Given the description of an element on the screen output the (x, y) to click on. 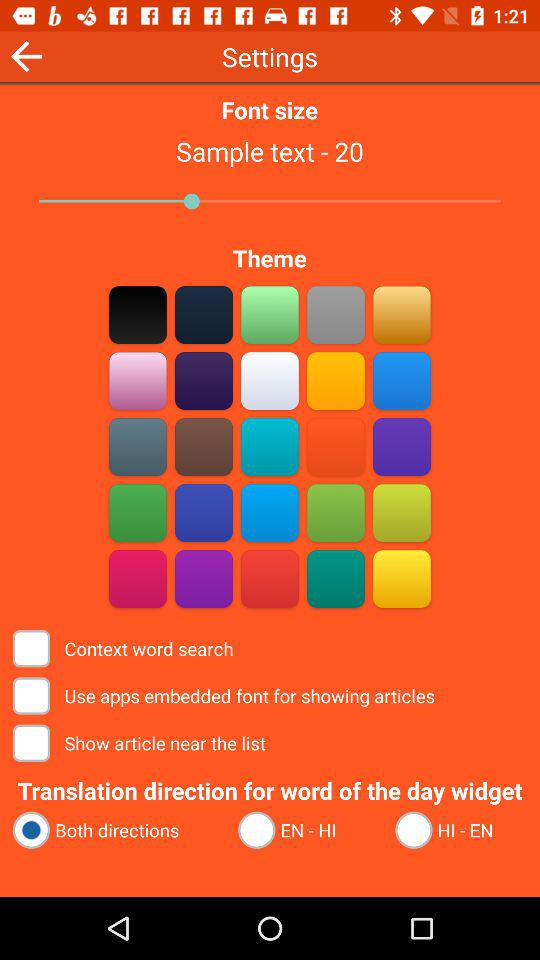
change color (203, 314)
